Given the description of an element on the screen output the (x, y) to click on. 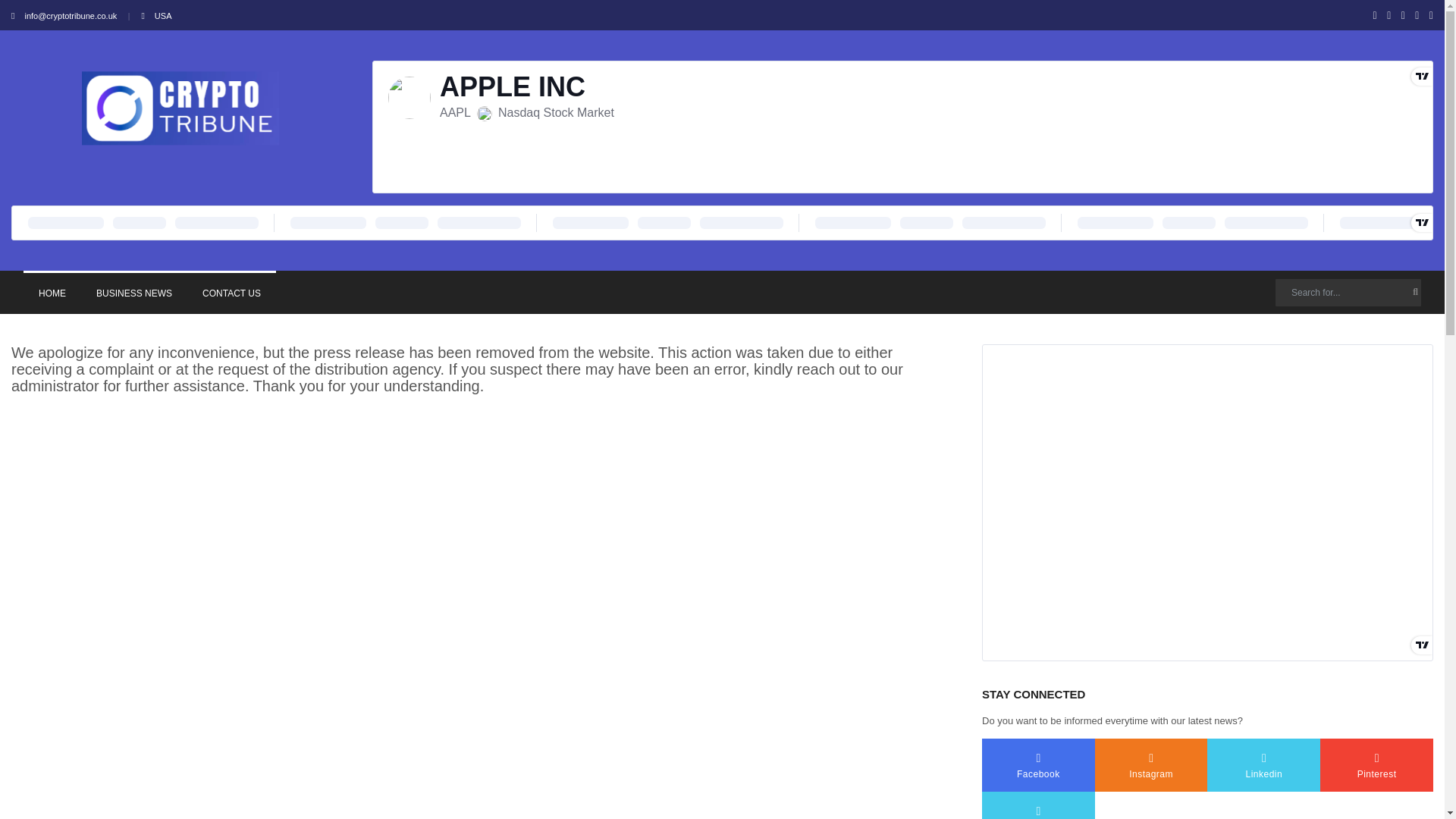
Facebook (1037, 764)
HOME (52, 292)
Linkedin (1263, 764)
Twitter (1037, 805)
CONTACT US (231, 292)
Pinterest (1376, 764)
Instagram (1151, 764)
BUSINESS NEWS (134, 292)
ticker tape TradingView widget (721, 222)
